Given the description of an element on the screen output the (x, y) to click on. 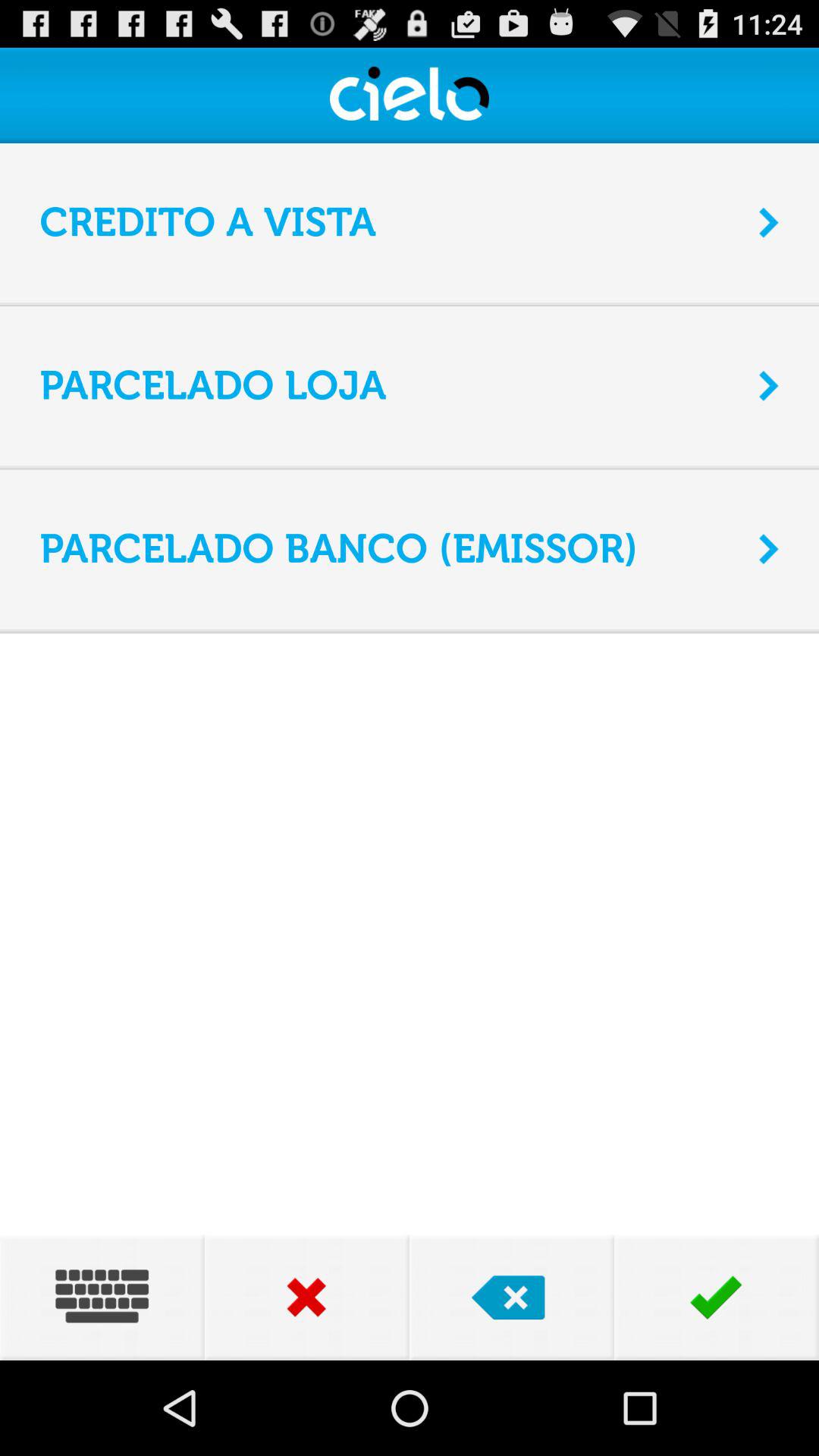
turn on the icon to the right of the credito a vista icon (769, 222)
